Given the description of an element on the screen output the (x, y) to click on. 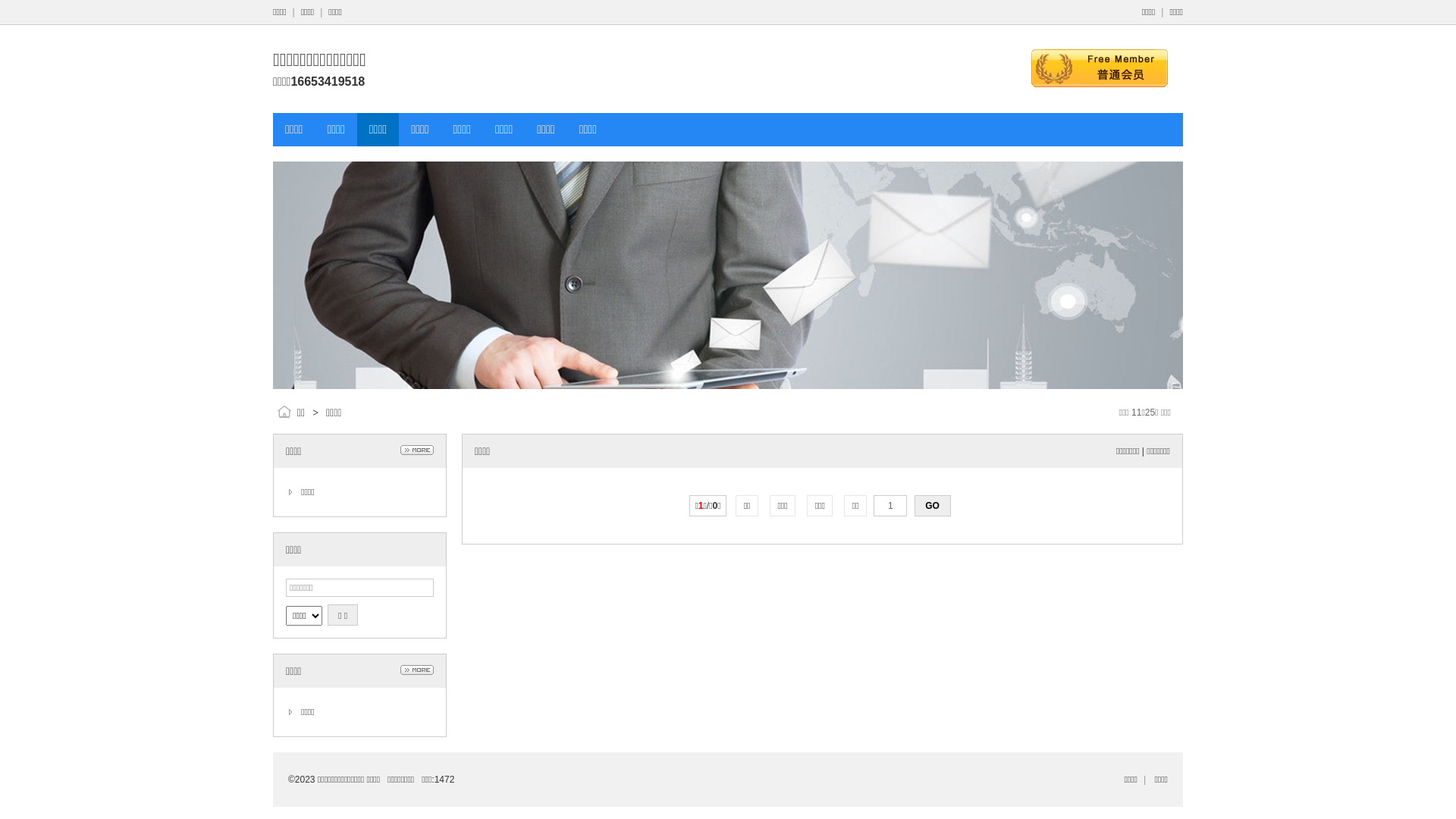
GO Element type: text (932, 505)
